Given the description of an element on the screen output the (x, y) to click on. 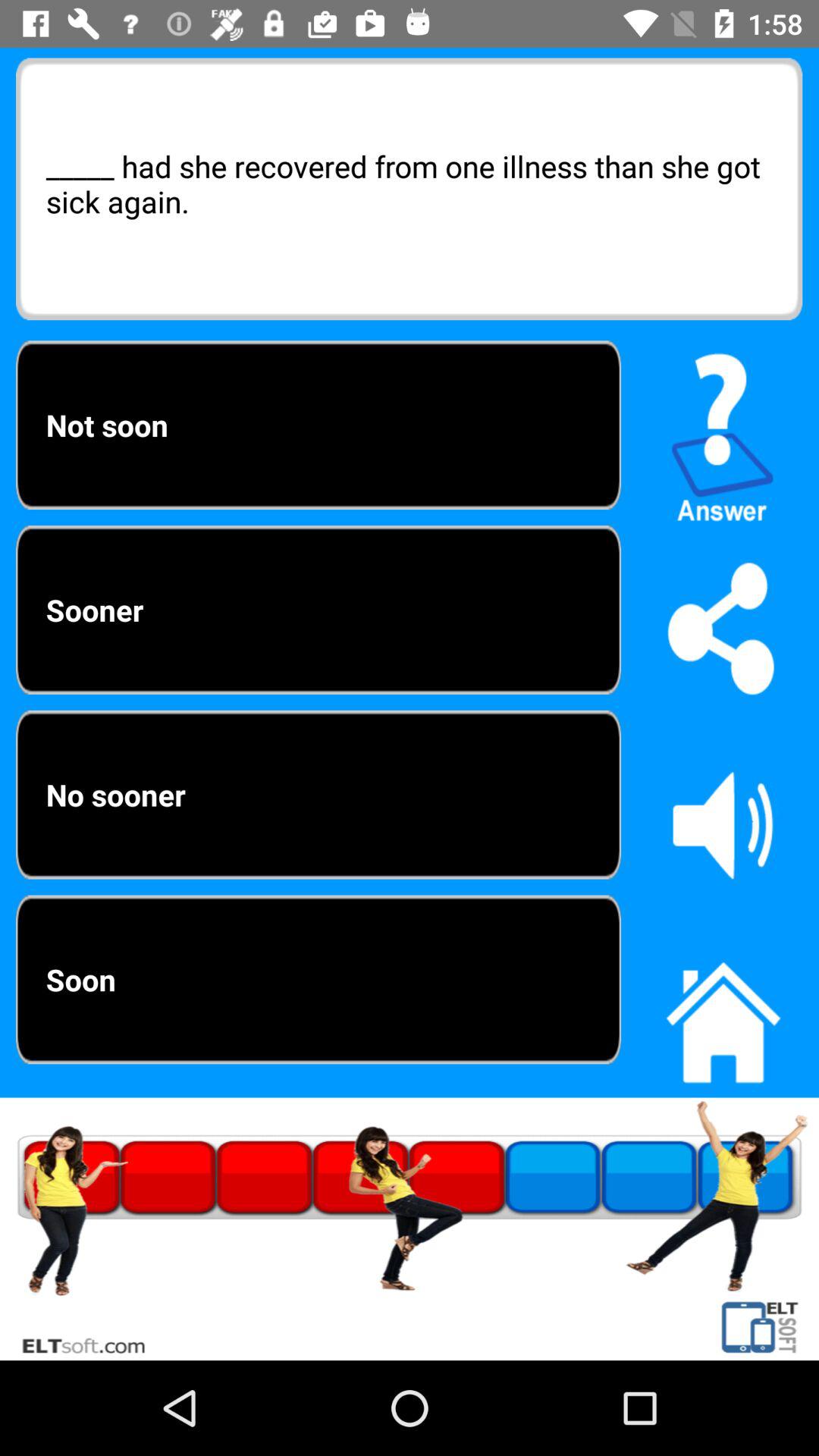
shows speaker icon (723, 824)
